Given the description of an element on the screen output the (x, y) to click on. 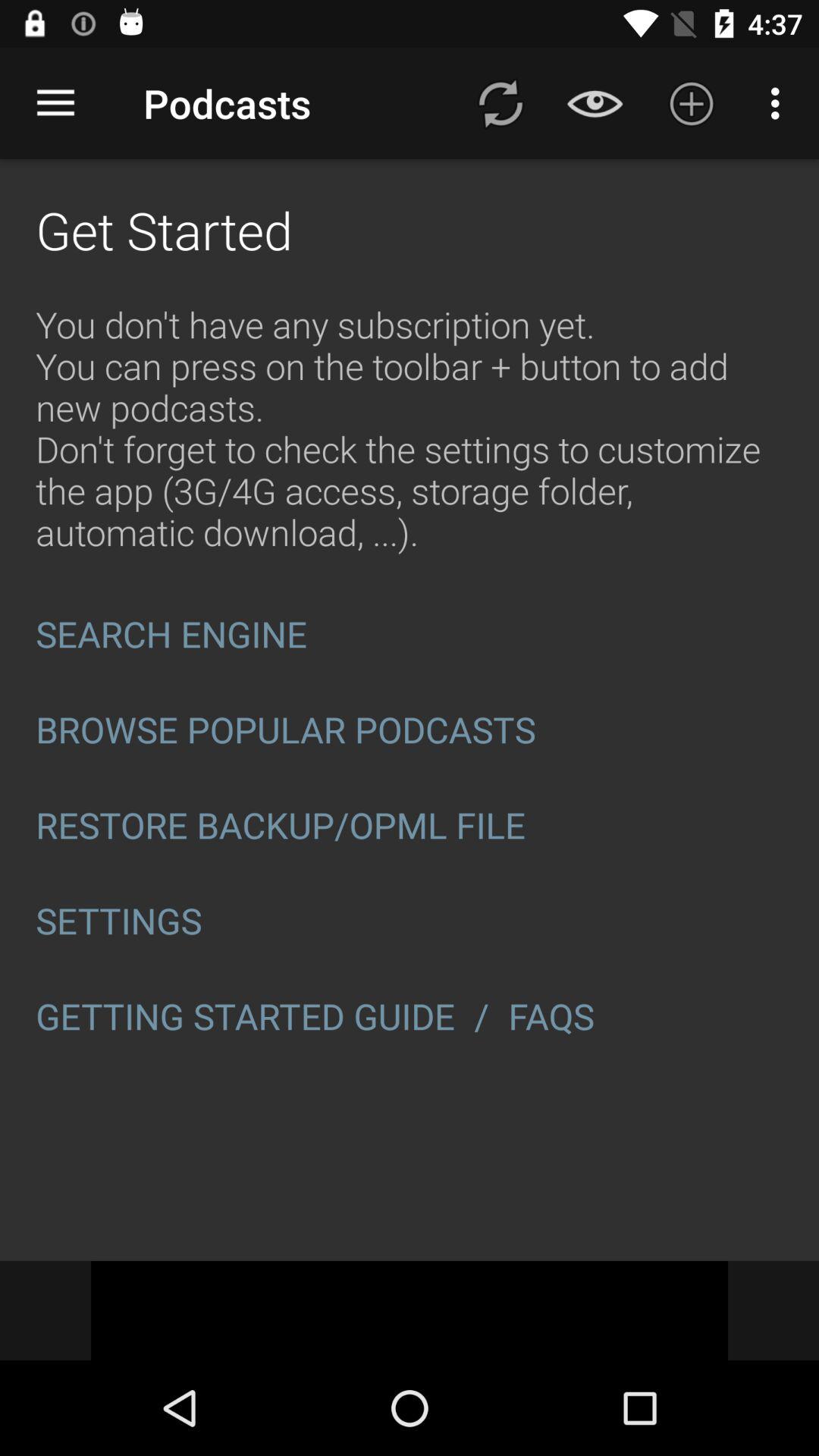
turn off the getting started guide icon (245, 1016)
